Given the description of an element on the screen output the (x, y) to click on. 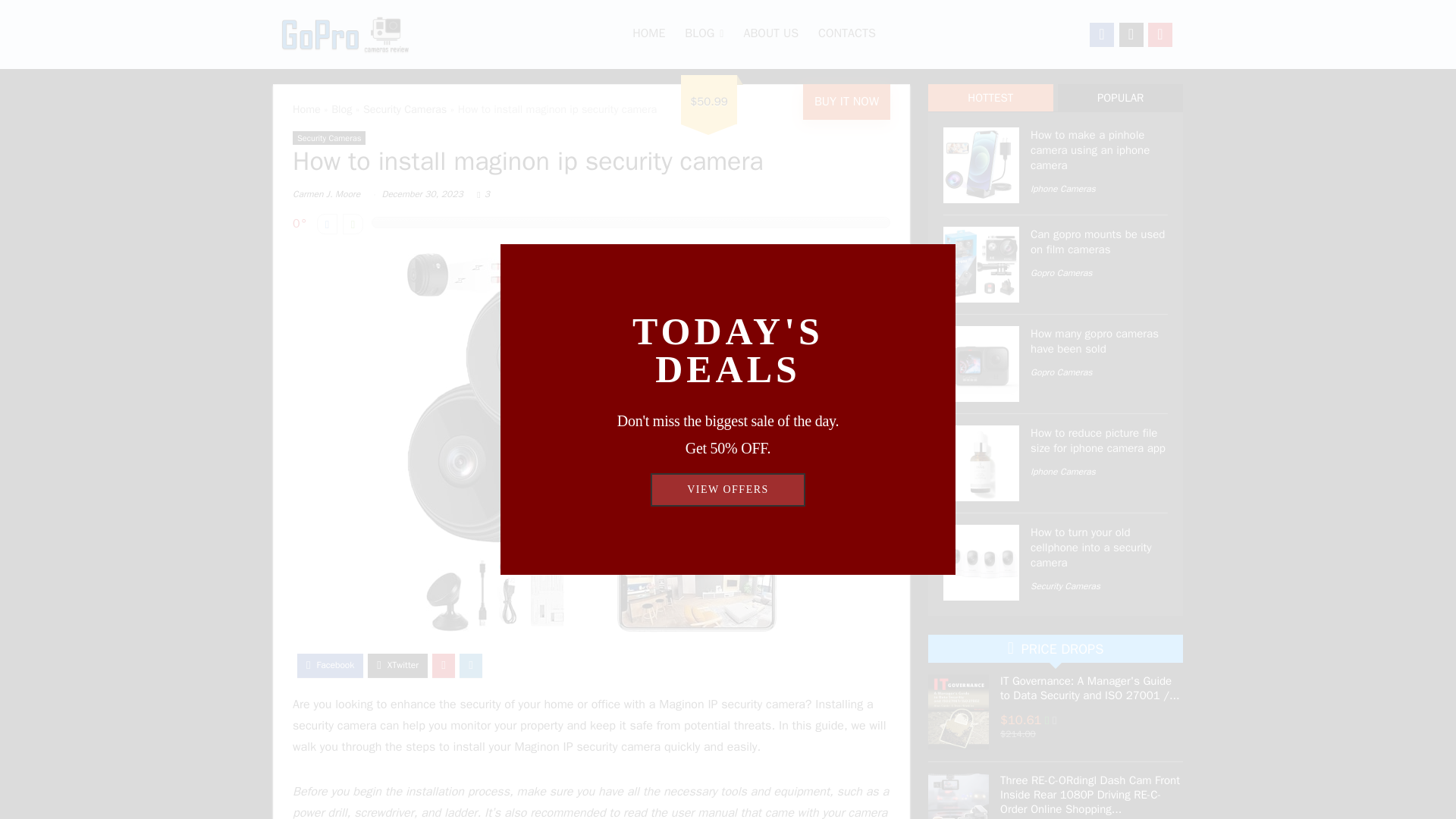
ABOUT US (770, 34)
Carmen J. Moore (325, 193)
Vote down (327, 223)
Home (306, 109)
HOME (649, 34)
BLOG (704, 34)
View all posts in Security Cameras (328, 137)
BUY IT NOW (846, 101)
as of July 18, 8173 5:20 pm (1054, 720)
Vote up (352, 223)
Security Cameras (404, 109)
Blog (341, 109)
CONTACTS (846, 34)
Security Cameras (328, 137)
